Given the description of an element on the screen output the (x, y) to click on. 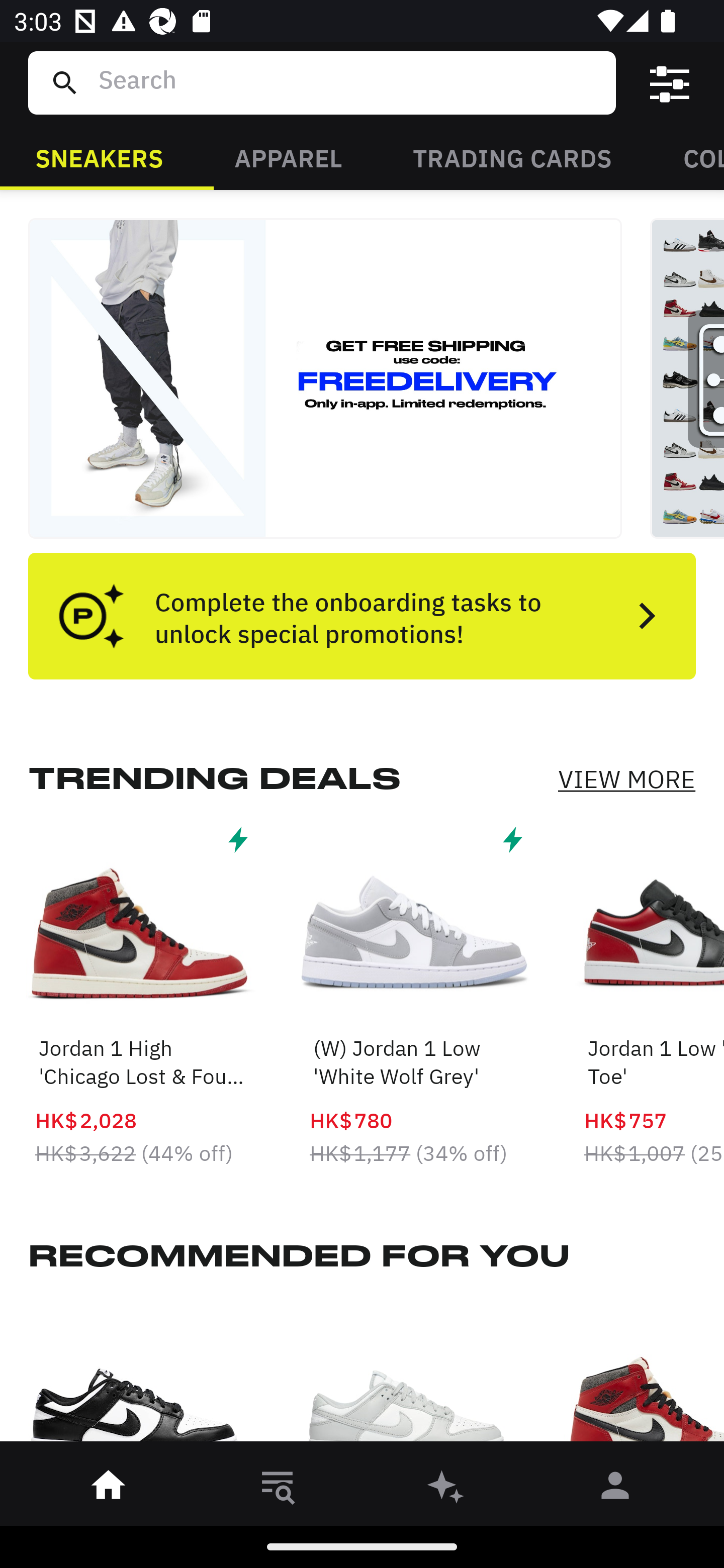
Search (349, 82)
 (669, 82)
SNEAKERS (99, 156)
APPAREL (287, 156)
TRADING CARDS (512, 156)
VIEW MORE (626, 779)
󰋜 (108, 1488)
󱎸 (277, 1488)
󰫢 (446, 1488)
󰀄 (615, 1488)
